Given the description of an element on the screen output the (x, y) to click on. 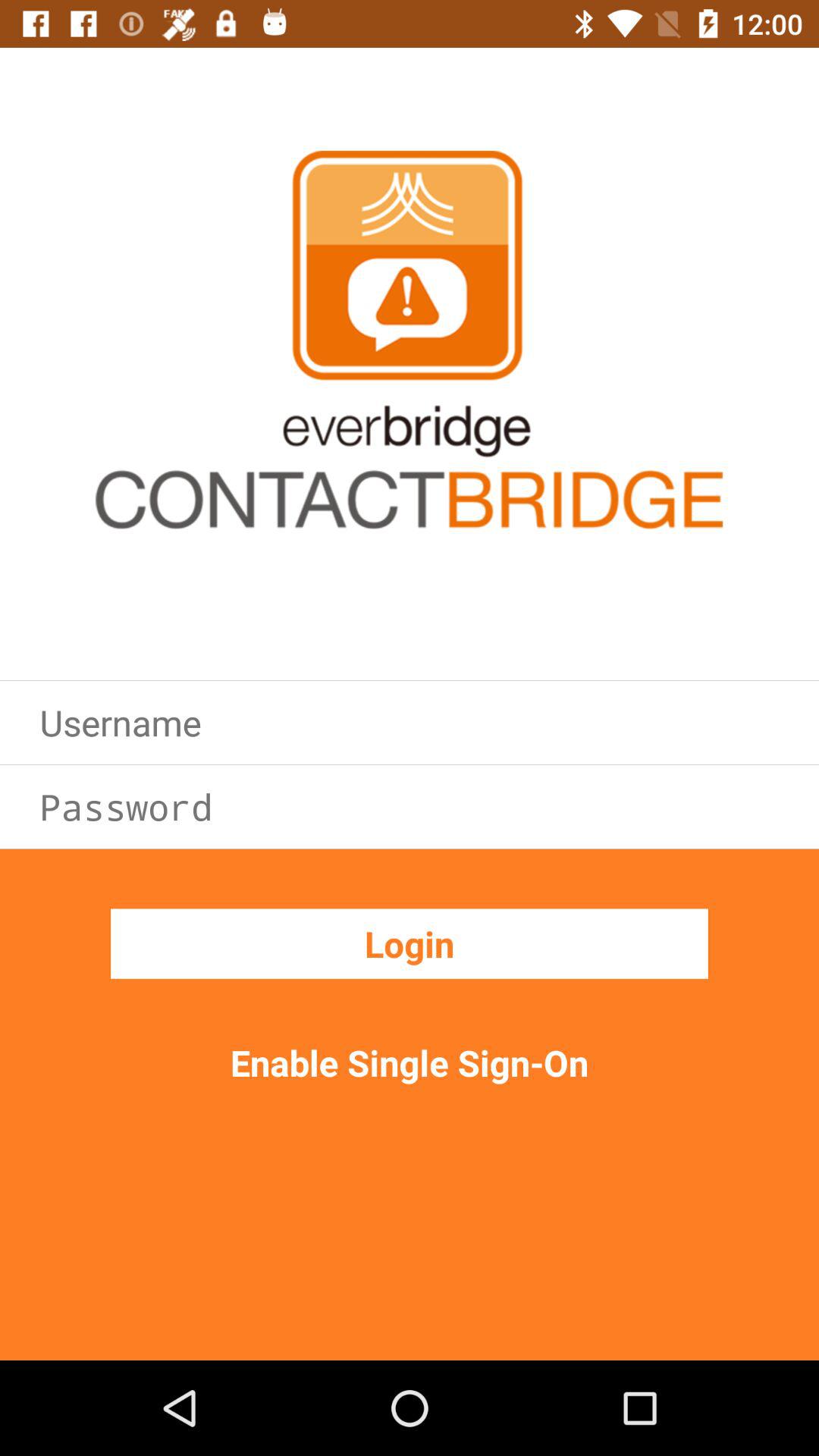
select enable single sign item (409, 1062)
